Given the description of an element on the screen output the (x, y) to click on. 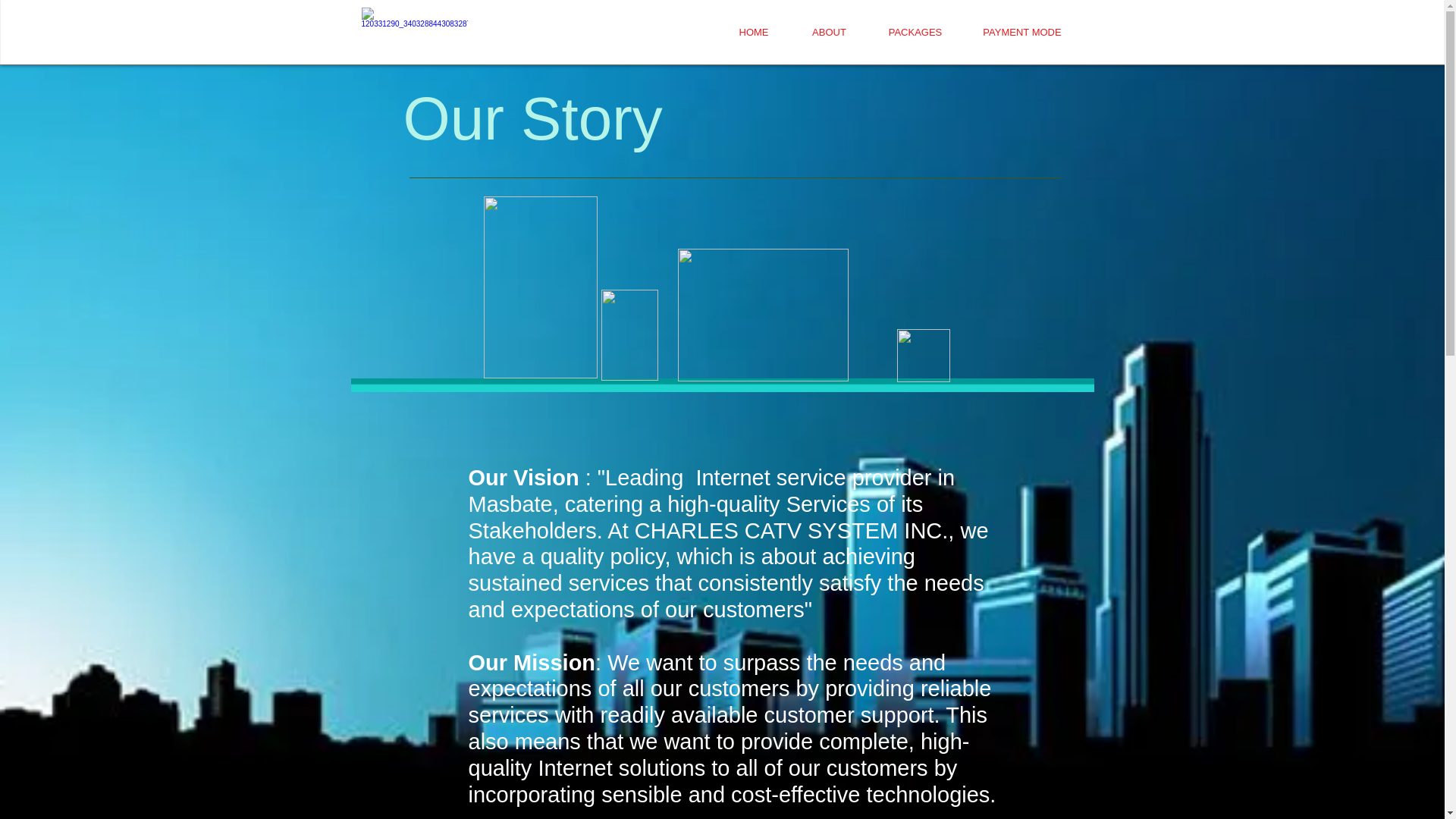
HOME (753, 32)
PAYMENT MODE (998, 32)
PACKAGES (891, 32)
ABOUT (806, 32)
